Given the description of an element on the screen output the (x, y) to click on. 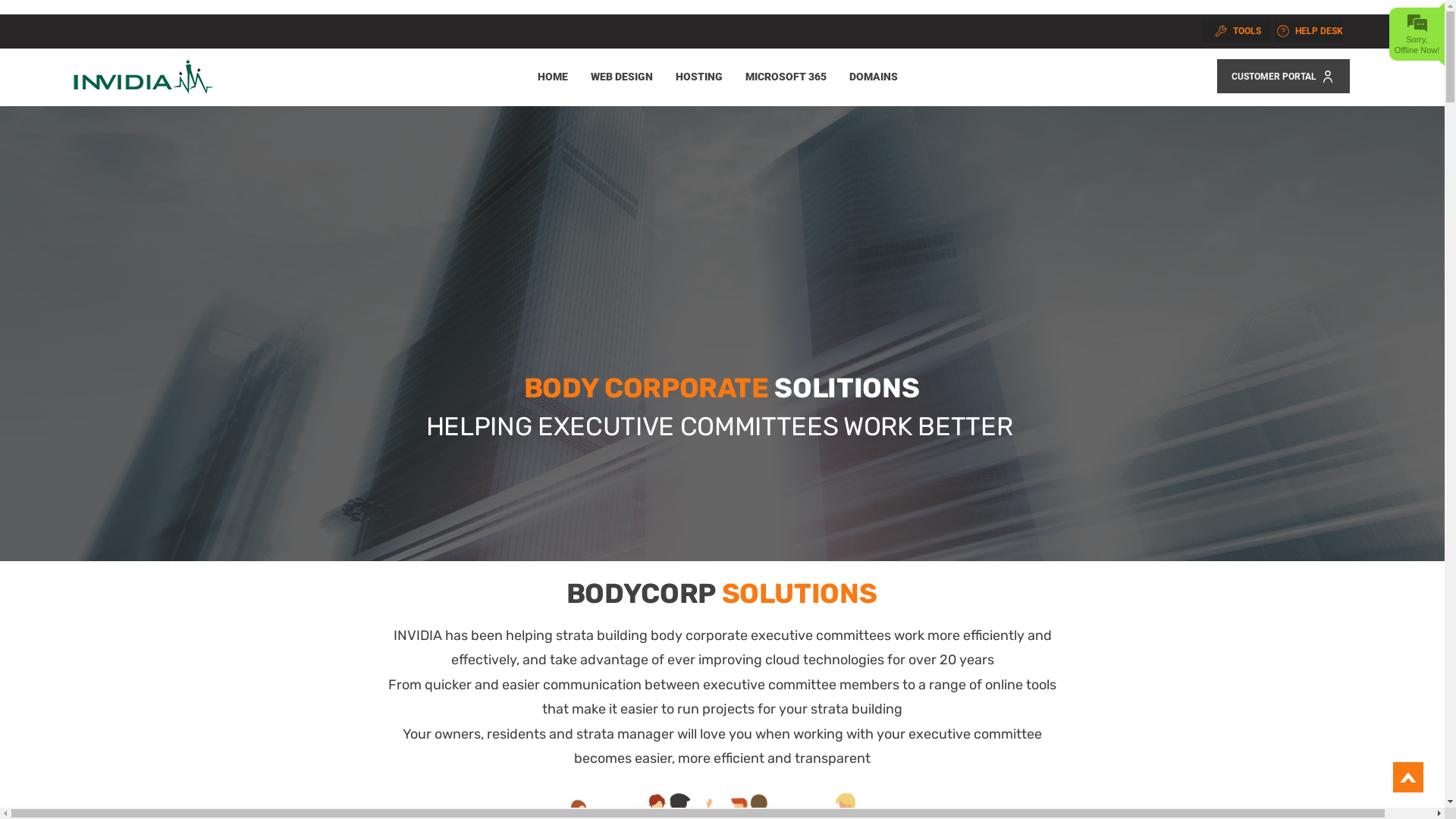
WEB DESIGN Element type: text (621, 76)
HELP DESK Element type: text (1308, 30)
CUSTOMER PORTAL Element type: text (1283, 76)
HOSTING Element type: text (699, 76)
HOME Element type: text (552, 76)
MICROSOFT 365 Element type: text (785, 76)
TOOLS Element type: text (1236, 30)
DOMAINS Element type: text (873, 76)
